Given the description of an element on the screen output the (x, y) to click on. 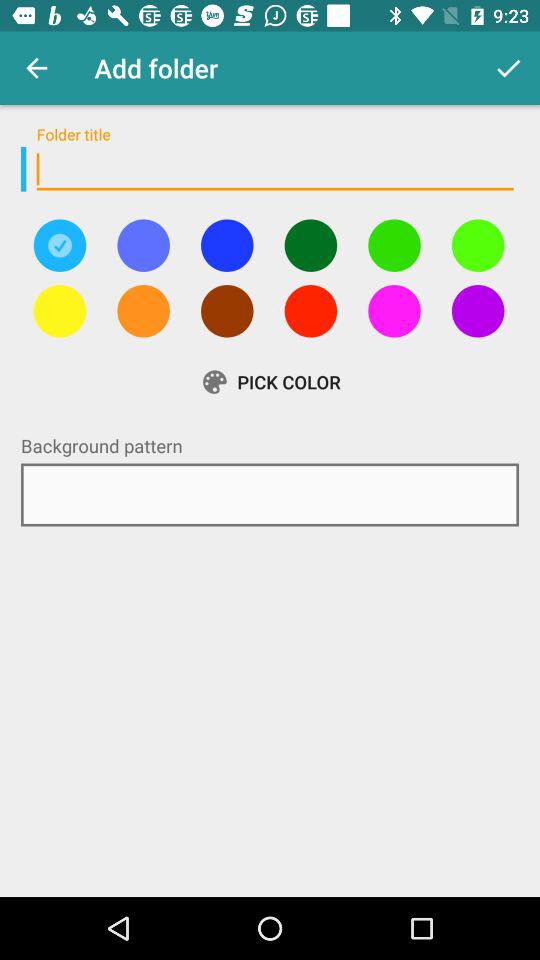
blue color folder (227, 245)
